Given the description of an element on the screen output the (x, y) to click on. 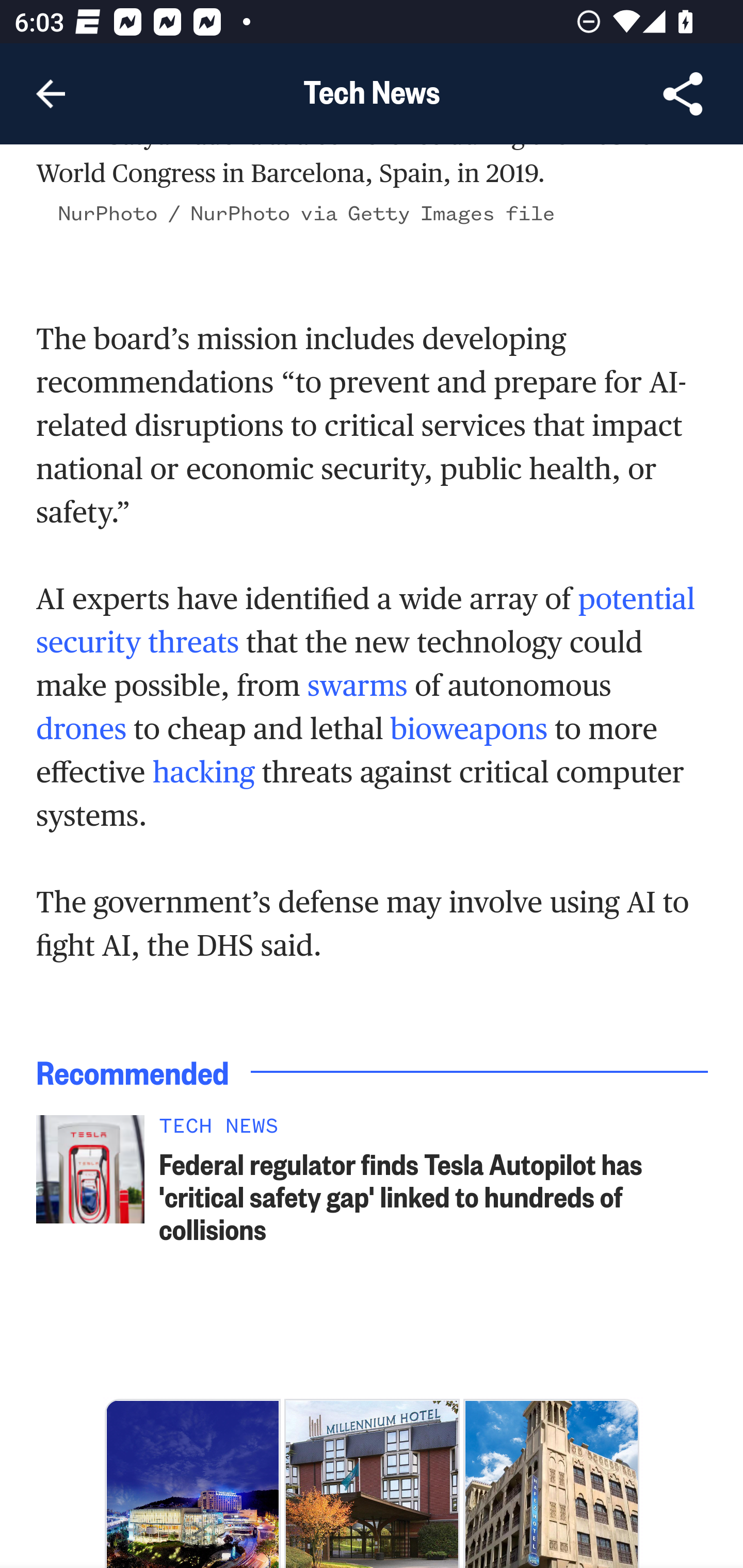
Navigate up (50, 93)
Share Article, button (683, 94)
potential security threats (365, 622)
swarms (356, 687)
drones (81, 731)
bioweapons (469, 731)
hacking (203, 773)
TECH NEWS (434, 1131)
Swiss Grand Hotel Seoul HK$1,173.86 立即預約 (191, 1484)
巴黎戴高樂千禧 酒店 HK$687.48 立即預約 (371, 1484)
Hafez Hotel Apartment HK$134.90 立即預約 (550, 1484)
